Given the description of an element on the screen output the (x, y) to click on. 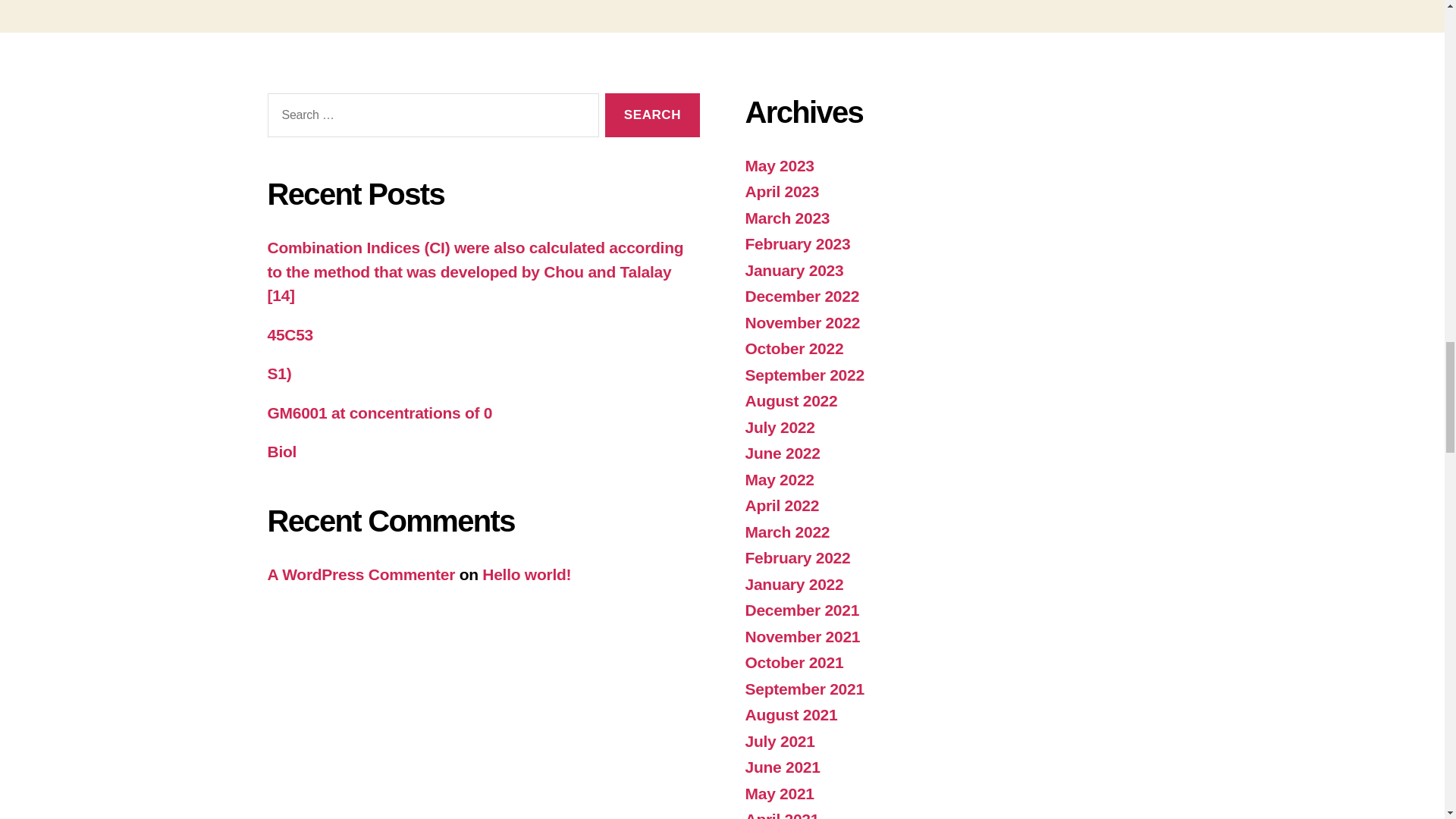
Biol (281, 451)
October 2022 (793, 348)
Search (651, 115)
March 2023 (786, 217)
A WordPress Commenter (360, 574)
May 2023 (778, 165)
May 2022 (778, 479)
Search (651, 115)
February 2022 (797, 557)
GM6001 at concentrations of 0 (379, 412)
